Given the description of an element on the screen output the (x, y) to click on. 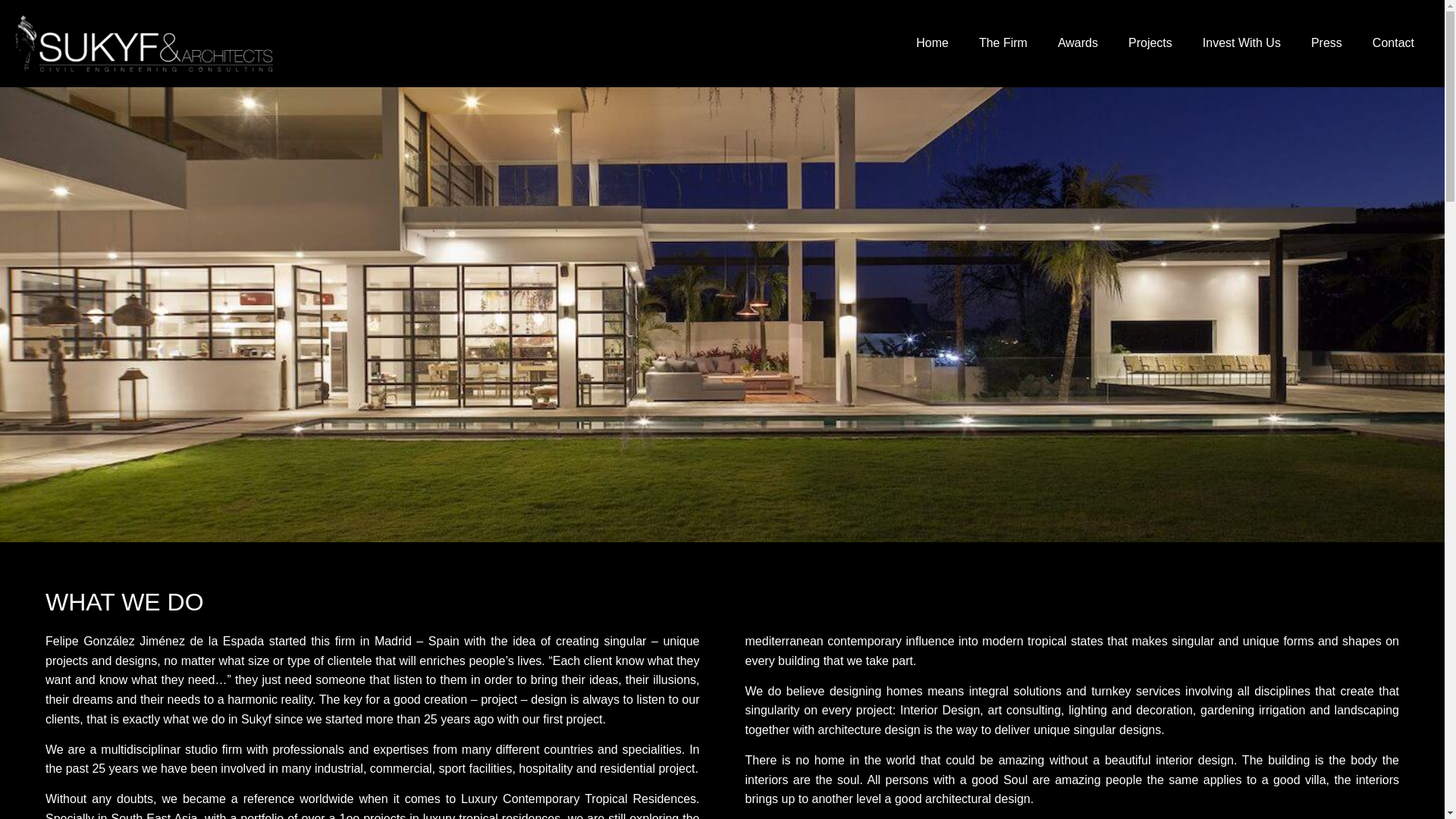
Awards (1077, 42)
The Firm (1002, 42)
Contact (1392, 42)
Invest With Us (1241, 42)
Press (1325, 42)
Projects (1150, 42)
Home (932, 42)
